Given the description of an element on the screen output the (x, y) to click on. 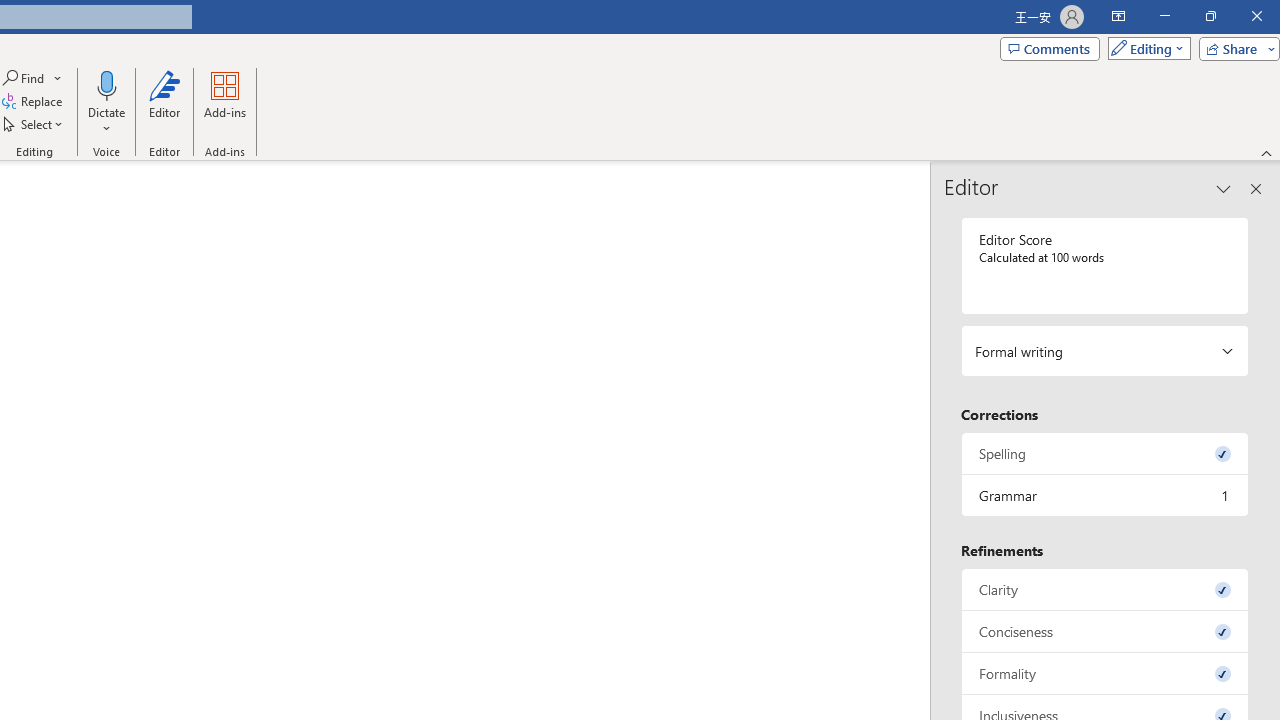
Spelling, 0 issues. Press space or enter to review items. (1105, 452)
Formality, 0 issues. Press space or enter to review items. (1105, 673)
Conciseness, 0 issues. Press space or enter to review items. (1105, 631)
Clarity, 0 issues. Press space or enter to review items. (1105, 588)
